Given the description of an element on the screen output the (x, y) to click on. 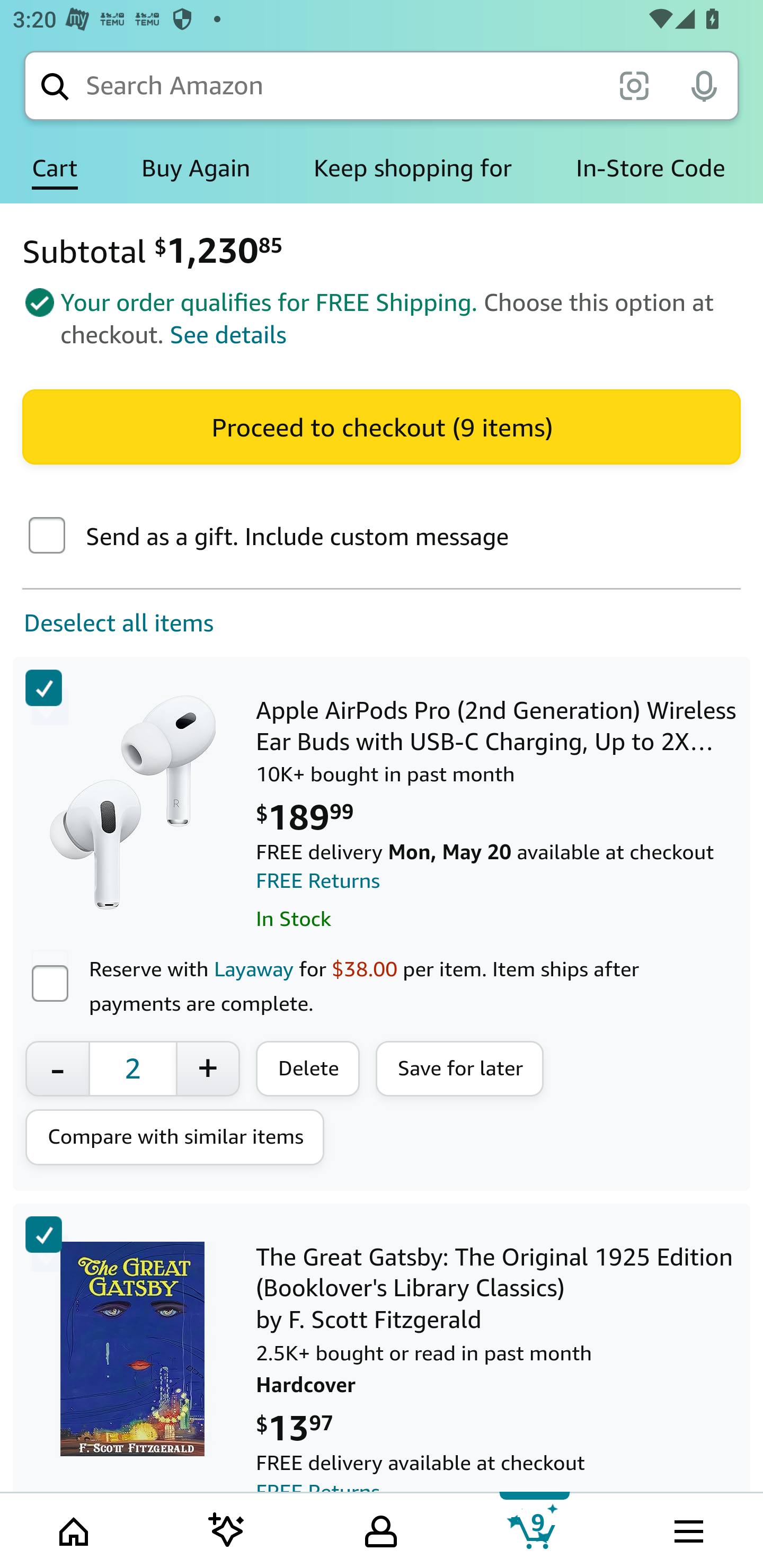
scan it (633, 85)
Cart (54, 168)
Buy Again (195, 168)
Keep shopping for (412, 168)
In-Store Code (650, 168)
See details (227, 334)
Proceed to checkout (9 items) (381, 426)
Send as a gift. Include custom message (46, 536)
Deselect all items (107, 623)
FREE Returns (318, 880)
Layaway (252, 967)
2 (132, 1068)
Compare with similar items (174, 1137)
Home Tab 1 of 5 (75, 1529)
Inspire feed Tab 2 of 5 (227, 1529)
Your Amazon.com Tab 3 of 5 (380, 1529)
Cart 9 items Tab 4 of 5 9 (534, 1529)
Browse menu Tab 5 of 5 (687, 1529)
